Given the description of an element on the screen output the (x, y) to click on. 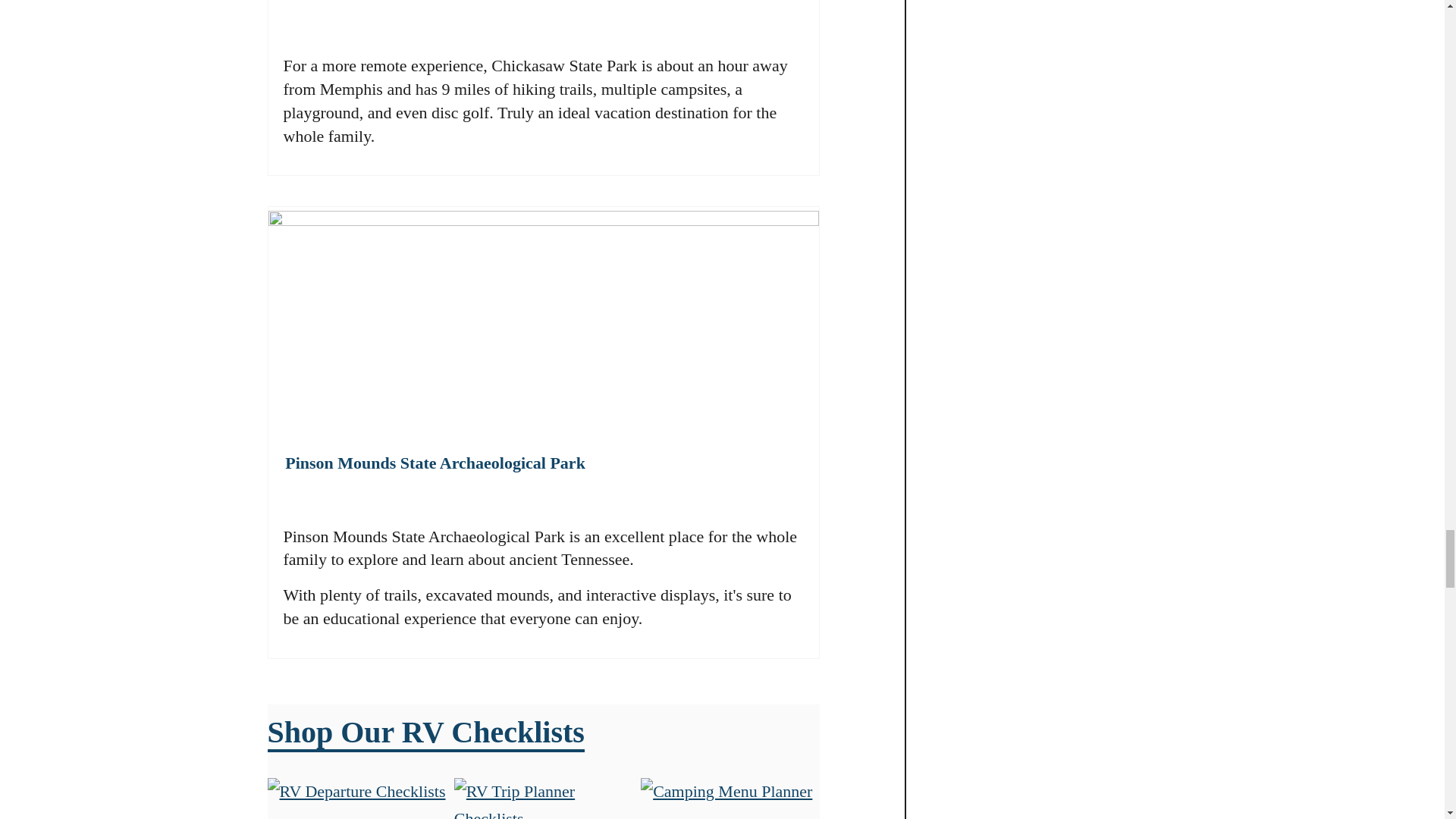
Shop Our RV Checklists (424, 733)
Pinson Mounds State Archaeological Park (435, 461)
Chickasaw State Park (364, 2)
